Given the description of an element on the screen output the (x, y) to click on. 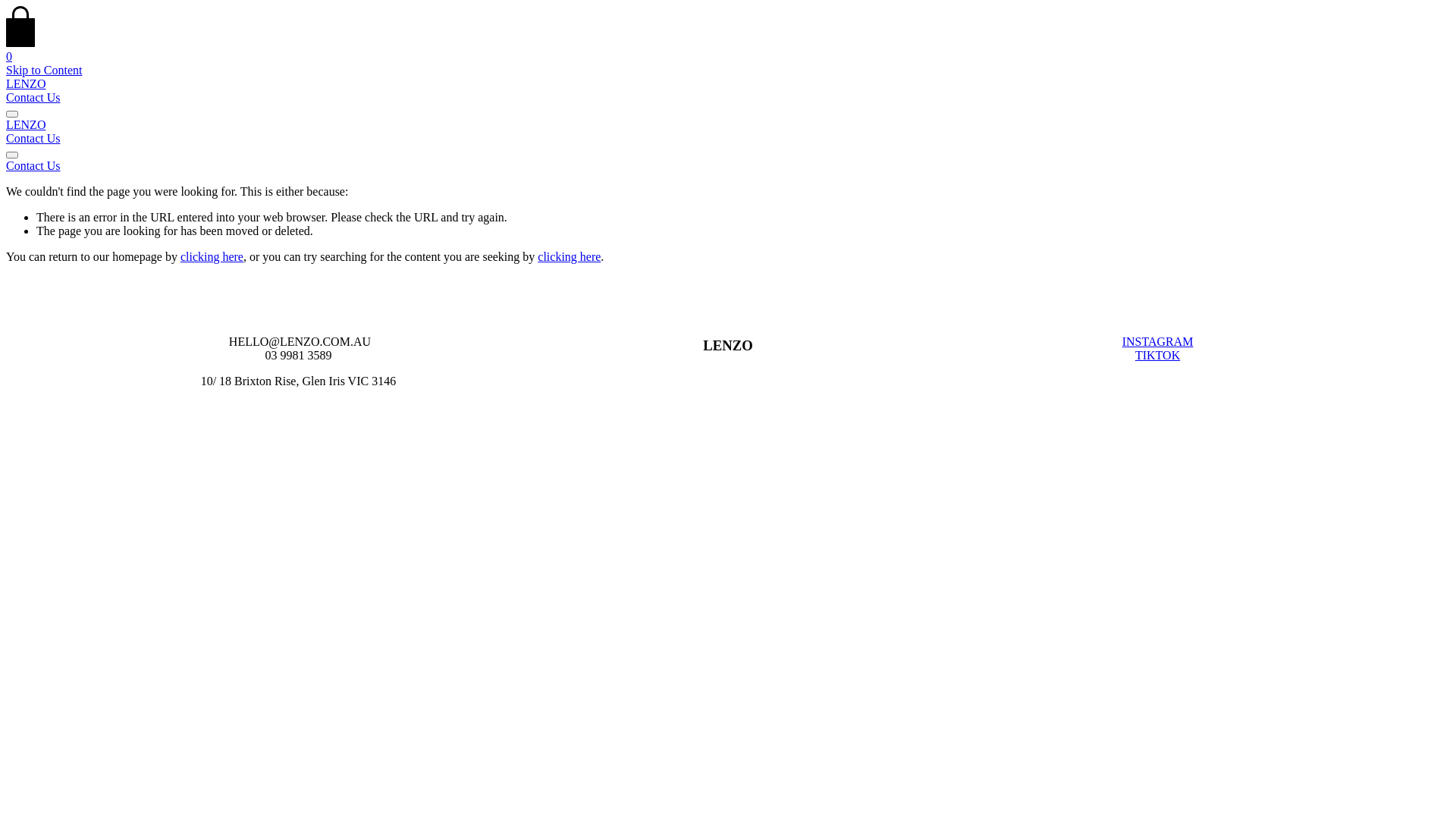
Contact Us Element type: text (33, 137)
clicking here Element type: text (211, 256)
Contact Us Element type: text (727, 165)
Contact Us Element type: text (33, 97)
LENZO Element type: text (25, 83)
TIKTOK Element type: text (1157, 354)
Skip to Content Element type: text (43, 69)
INSTAGRAM Element type: text (1157, 341)
LENZO Element type: text (25, 124)
clicking here Element type: text (568, 256)
0 Element type: text (727, 49)
